Given the description of an element on the screen output the (x, y) to click on. 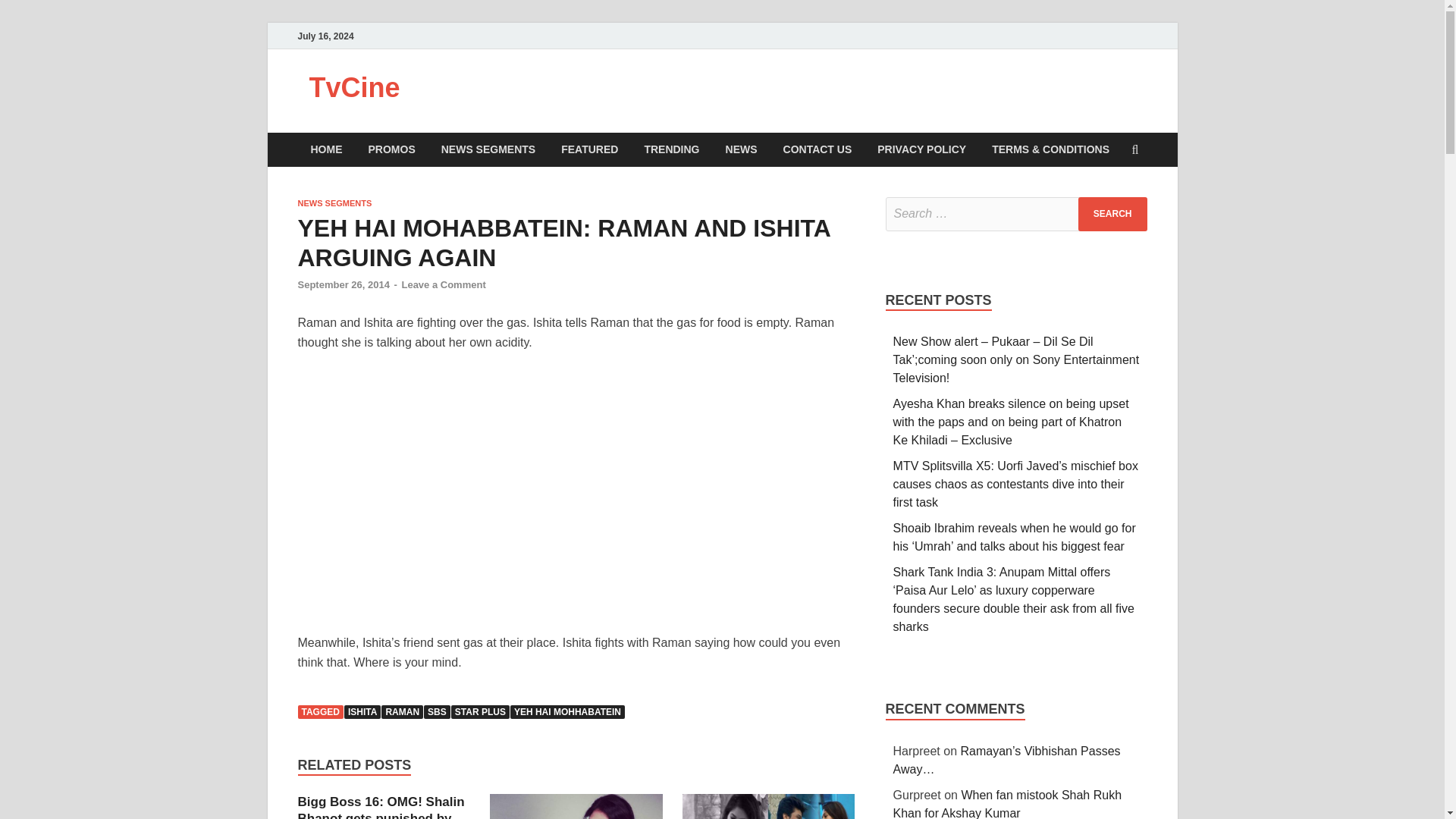
STAR PLUS (480, 712)
RAMAN (402, 712)
CONTACT US (817, 149)
Search (1112, 213)
ISHITA (361, 712)
HOME (326, 149)
NEWS SEGMENTS (488, 149)
PROMOS (391, 149)
Leave a Comment (442, 284)
SBS (436, 712)
YEH HAI MOHHABATEIN (567, 712)
FEATURED (589, 149)
TRENDING (670, 149)
September 26, 2014 (342, 284)
NEWS (741, 149)
